Given the description of an element on the screen output the (x, y) to click on. 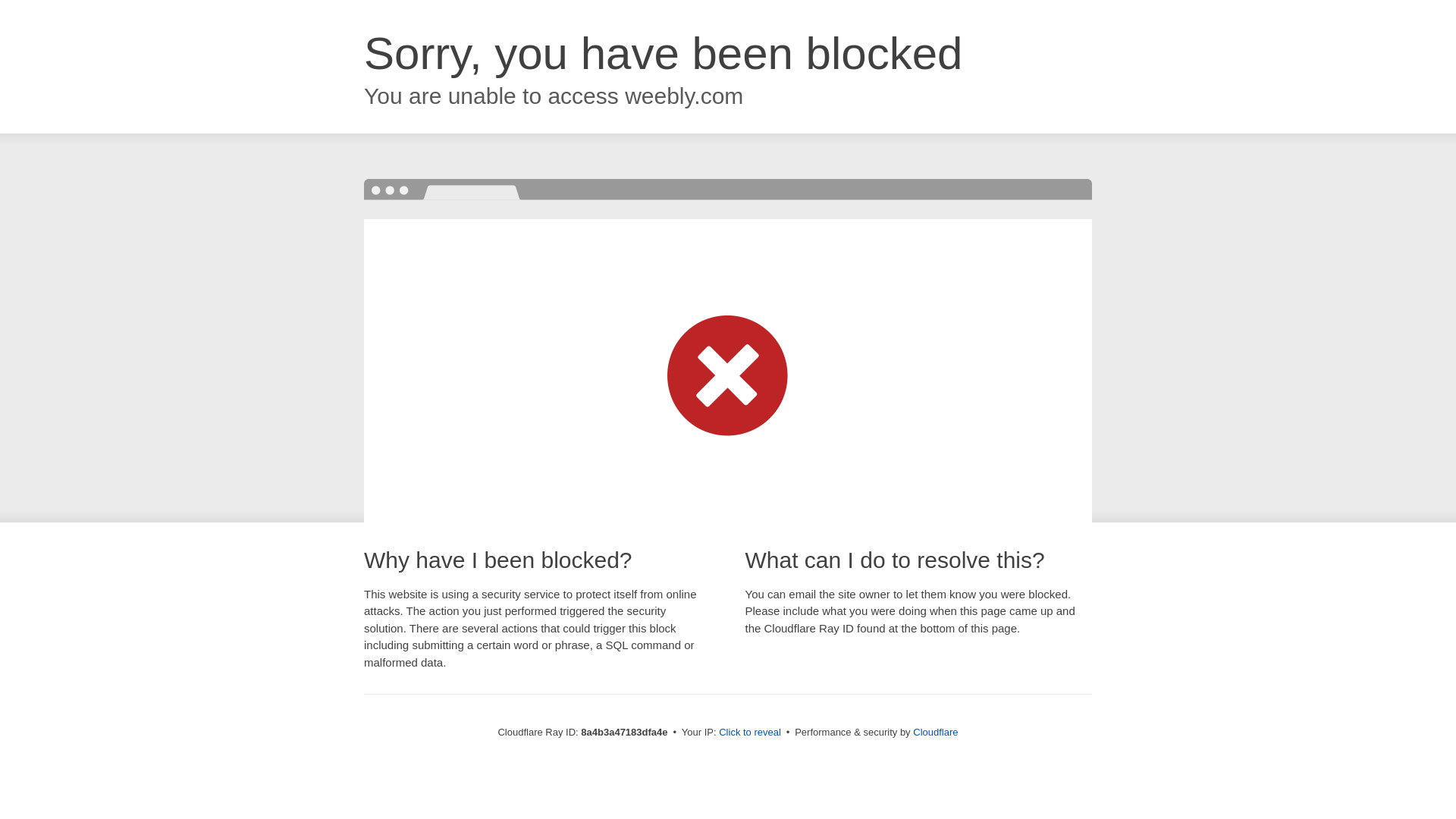
Click to reveal (749, 732)
Cloudflare (935, 731)
